Given the description of an element on the screen output the (x, y) to click on. 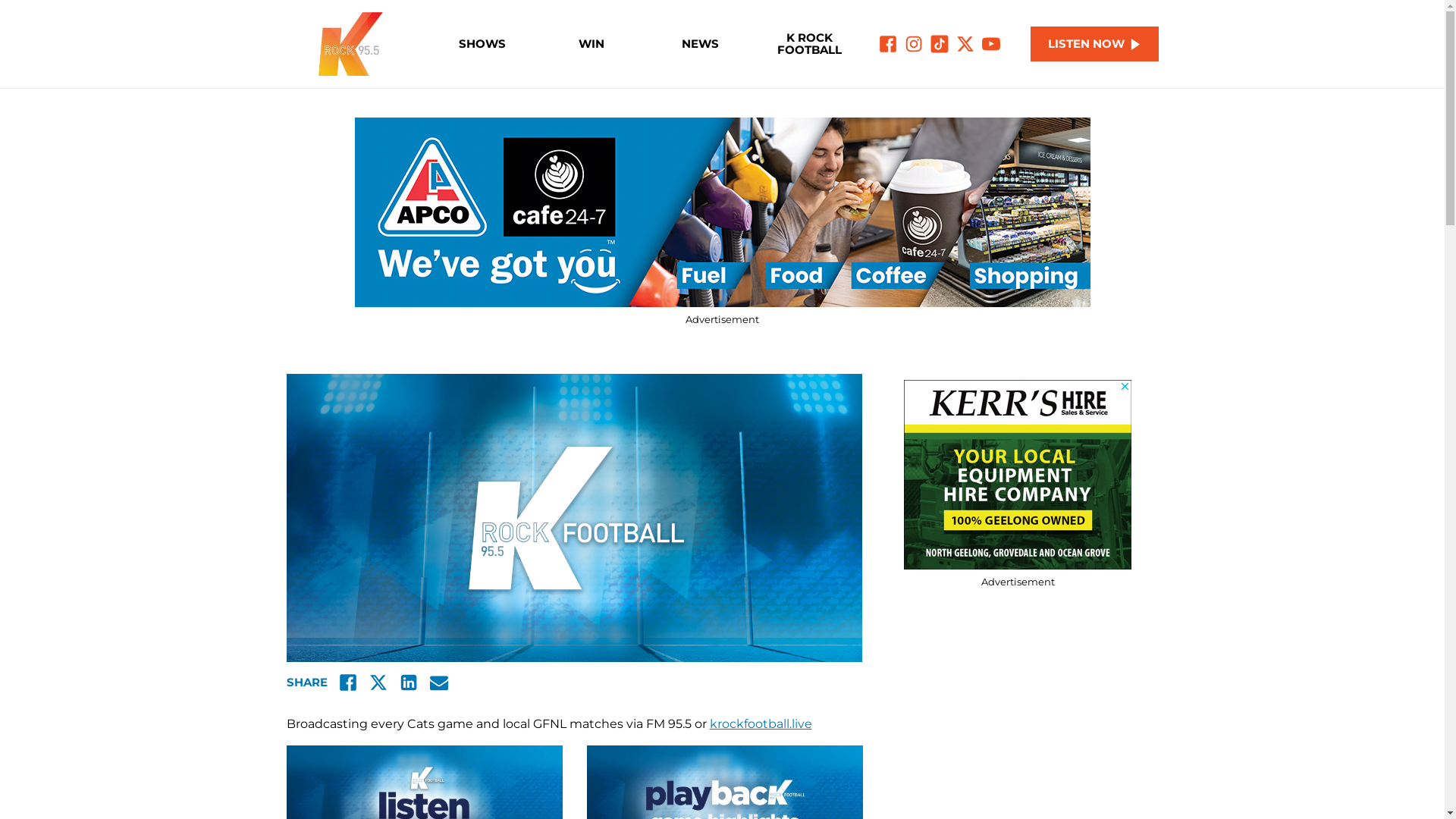
Twitter Element type: text (377, 682)
3rd party ad content Element type: hover (1017, 474)
Twitter/X Element type: text (965, 43)
K ROCK FOOTBALL Element type: text (808, 43)
Tiktok Element type: text (939, 43)
NEWS Element type: text (700, 43)
SHOWS Element type: text (481, 43)
YouTube Element type: text (991, 43)
Email Element type: text (438, 682)
3rd party ad content Element type: hover (722, 212)
WIN Element type: text (591, 43)
Facebook Element type: text (347, 682)
LinkedIn Element type: text (407, 682)
LISTEN NOW Element type: text (1094, 44)
Facebook Element type: text (887, 43)
Instagram Element type: text (913, 43)
krockfootball.live Element type: text (760, 723)
